Given the description of an element on the screen output the (x, y) to click on. 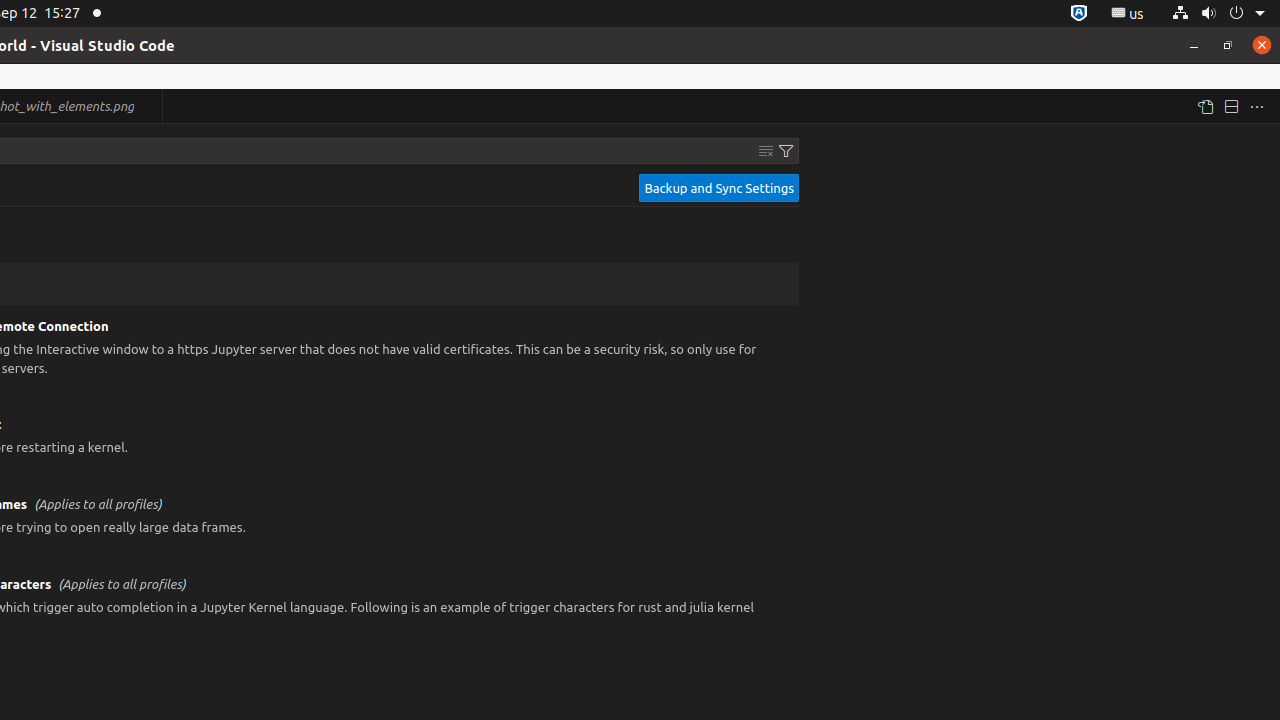
Clear Settings Search Input Element type: push-button (766, 151)
More Actions... Element type: push-button (1257, 106)
Split Editor Right (Ctrl+\) [Alt] Split Editor Down Element type: push-button (1231, 106)
Open Settings (JSON) Element type: push-button (1205, 106)
